Given the description of an element on the screen output the (x, y) to click on. 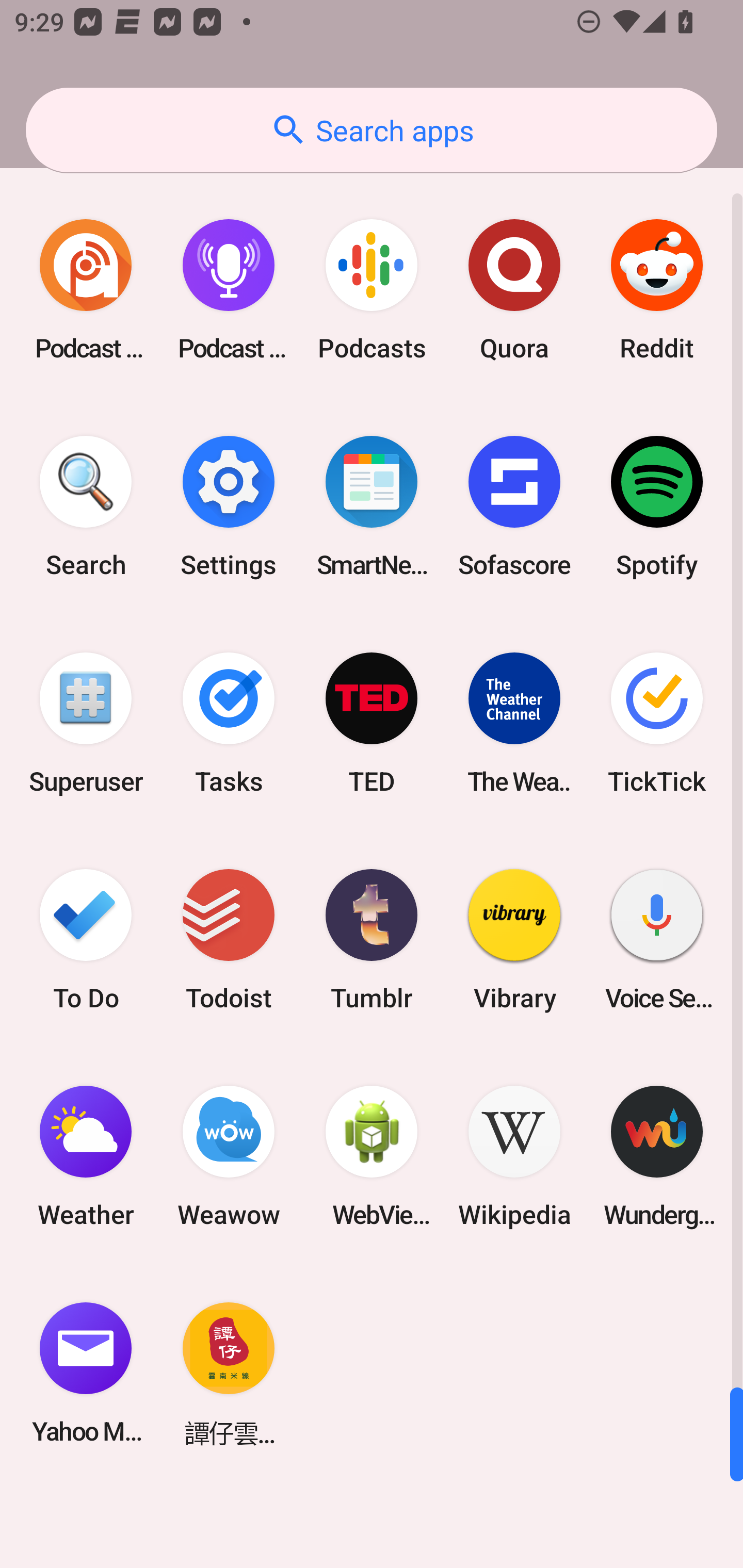
  Search apps (371, 130)
Podcast Addict (85, 289)
Podcast Player (228, 289)
Podcasts (371, 289)
Quora (514, 289)
Reddit (656, 289)
Search (85, 506)
Settings (228, 506)
SmartNews (371, 506)
Sofascore (514, 506)
Spotify (656, 506)
Superuser (85, 722)
Tasks (228, 722)
TED (371, 722)
The Weather Channel (514, 722)
TickTick (656, 722)
To Do (85, 939)
Todoist (228, 939)
Tumblr (371, 939)
Vibrary (514, 939)
Voice Search (656, 939)
Weather (85, 1156)
Weawow (228, 1156)
WebView Browser Tester (371, 1156)
Wikipedia (514, 1156)
Wunderground (656, 1156)
Yahoo Mail (85, 1373)
譚仔雲南米線 (228, 1373)
